Given the description of an element on the screen output the (x, y) to click on. 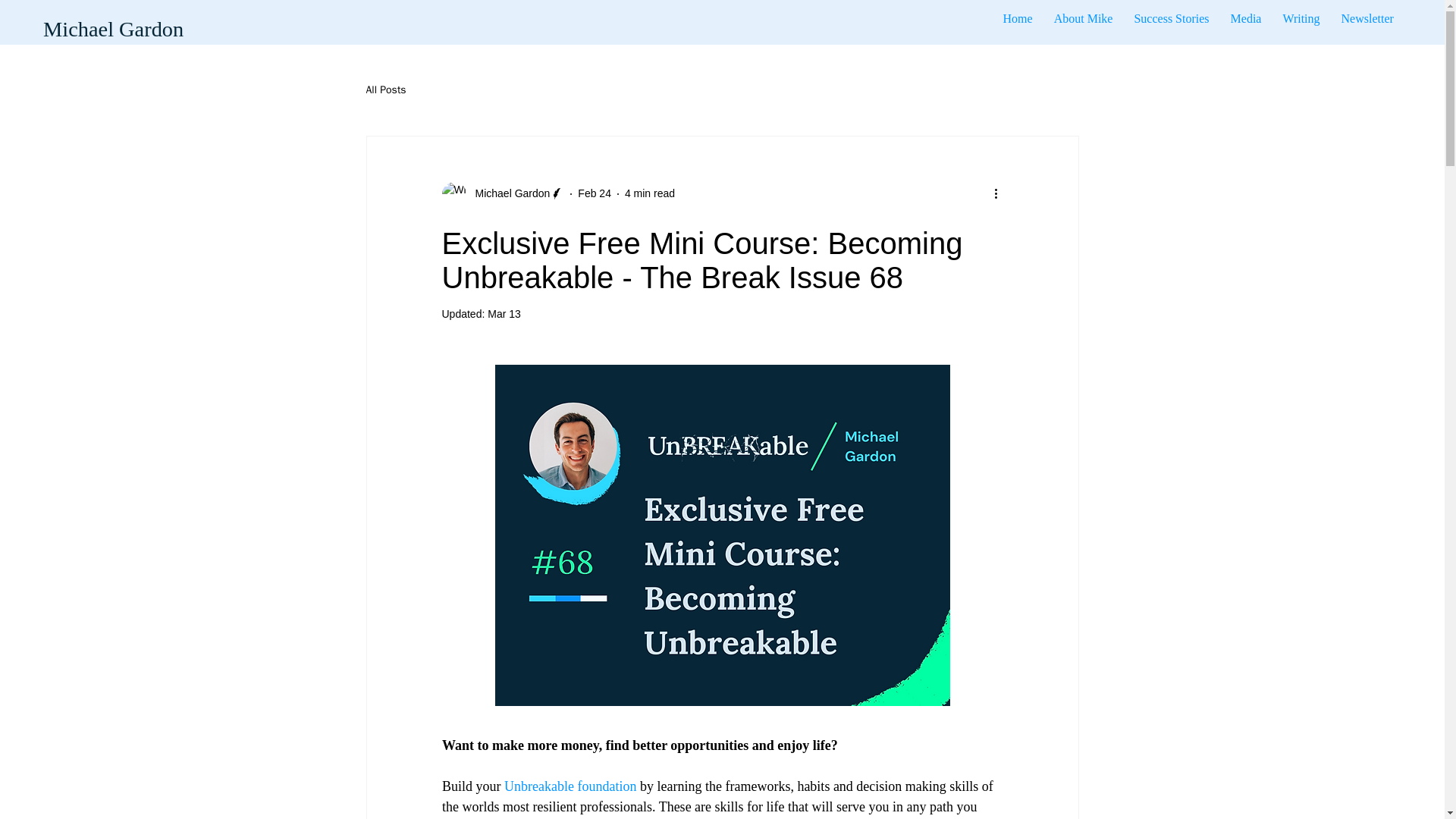
Success Stories (1170, 18)
Writing (1300, 18)
Unbreakable foundation (569, 785)
4 min read (649, 193)
Home (1018, 18)
All Posts (385, 90)
Mar 13 (504, 313)
Michael Gardon (1045, 18)
Feb 24 (507, 193)
